Given the description of an element on the screen output the (x, y) to click on. 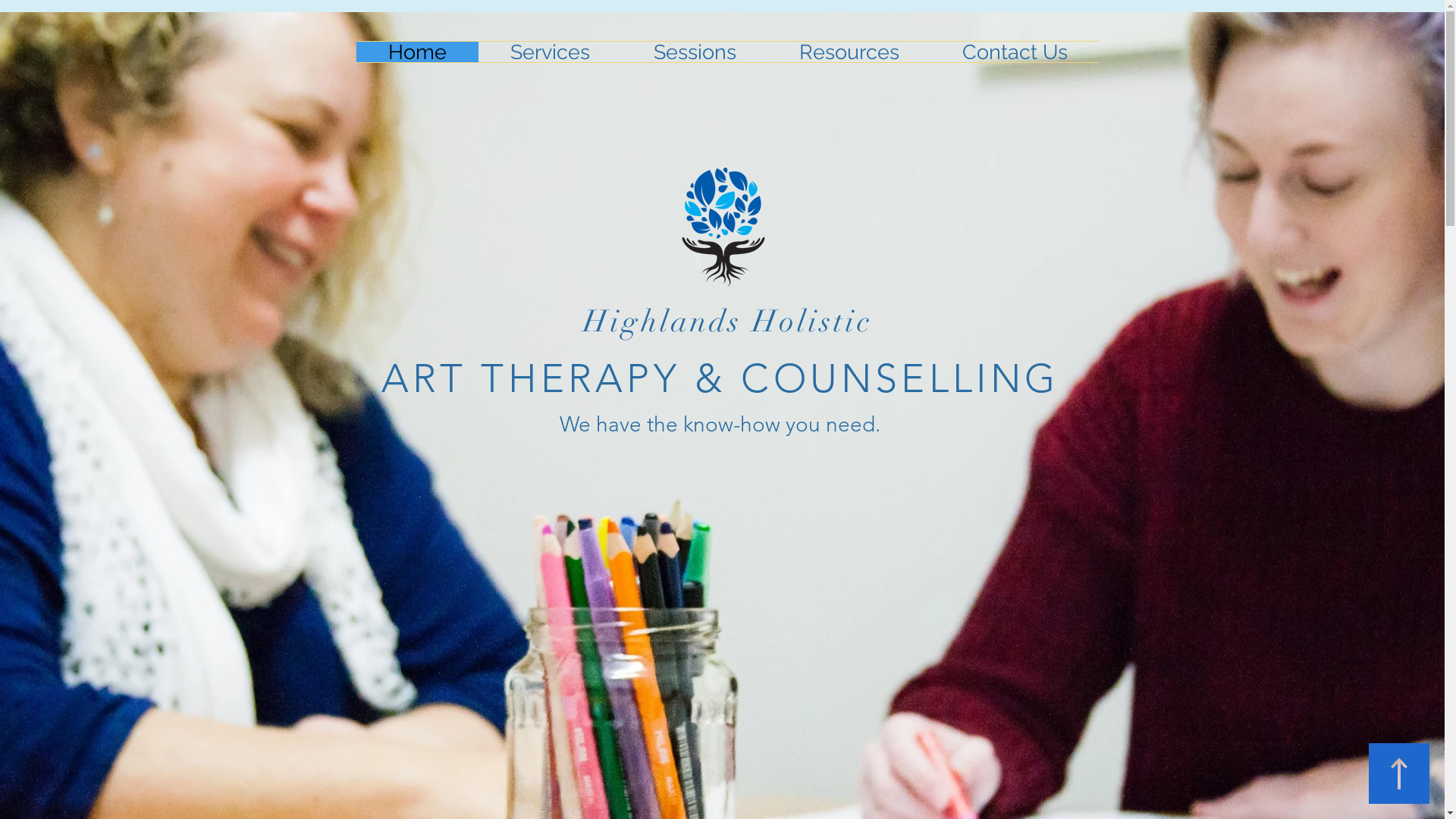
Home Element type: text (417, 51)
Final Highlands Holistic Logo option5.png Element type: hover (722, 226)
Contact Us Element type: text (1015, 51)
